Given the description of an element on the screen output the (x, y) to click on. 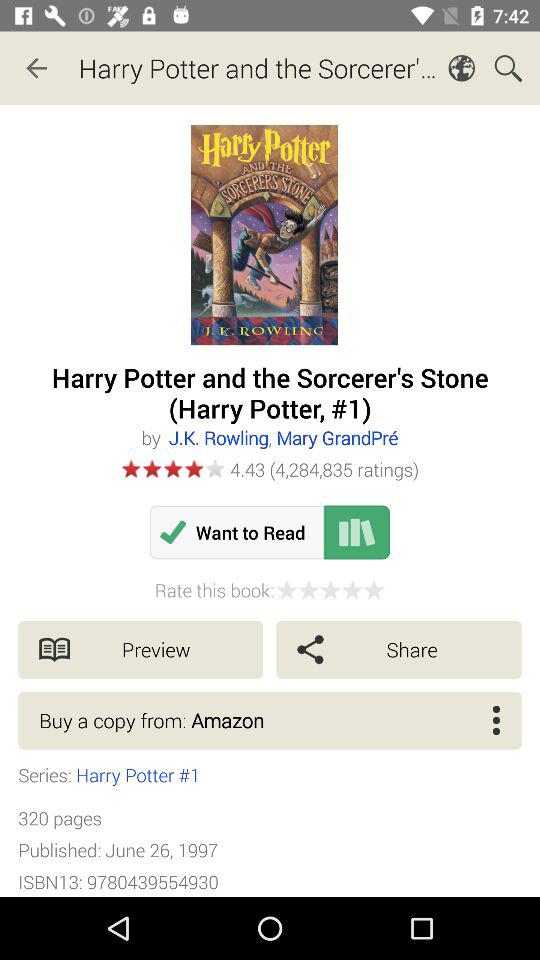
add to reading list (357, 532)
